Given the description of an element on the screen output the (x, y) to click on. 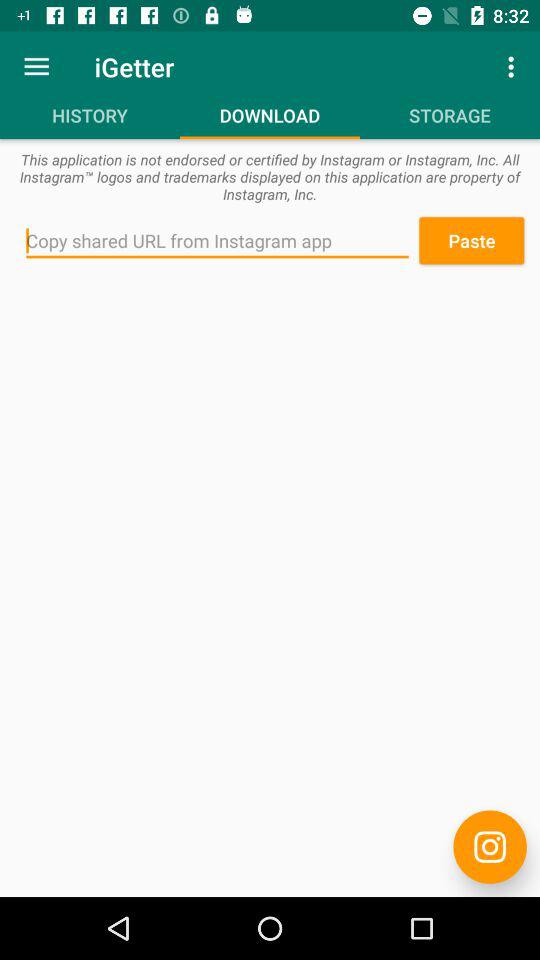
paste url to screenshot and load media (217, 241)
